Given the description of an element on the screen output the (x, y) to click on. 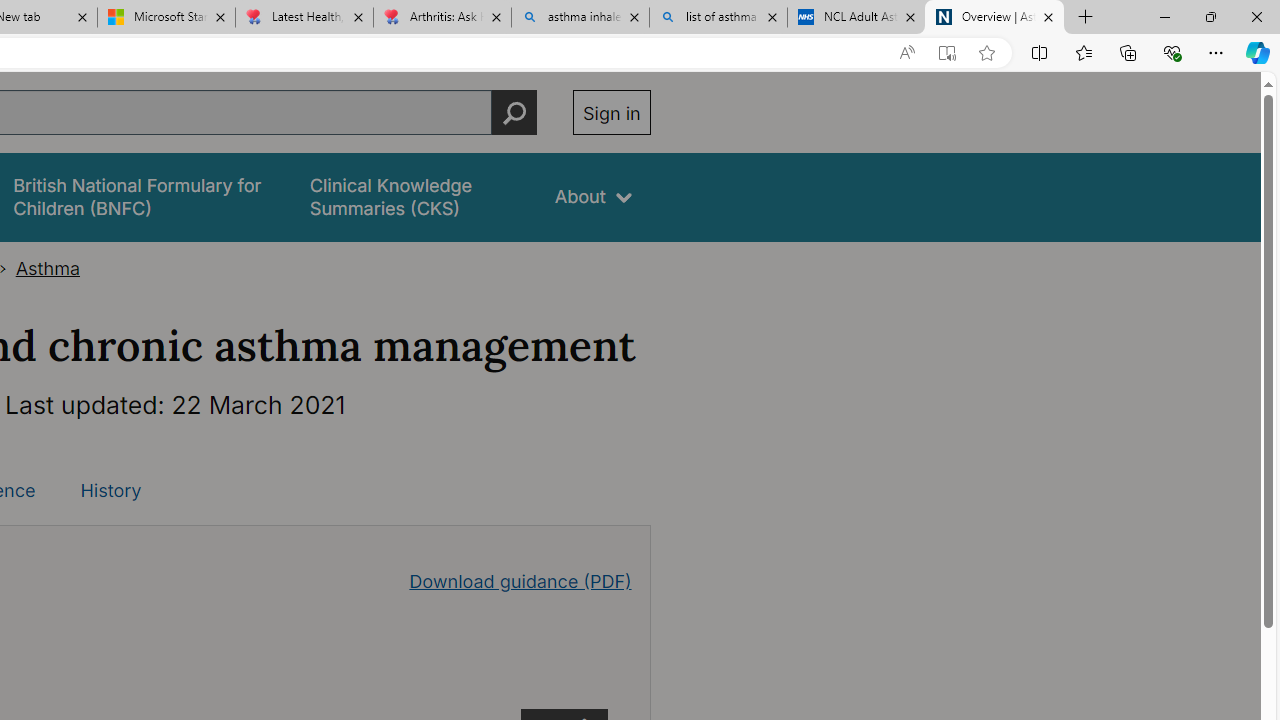
History (110, 490)
